Given the description of an element on the screen output the (x, y) to click on. 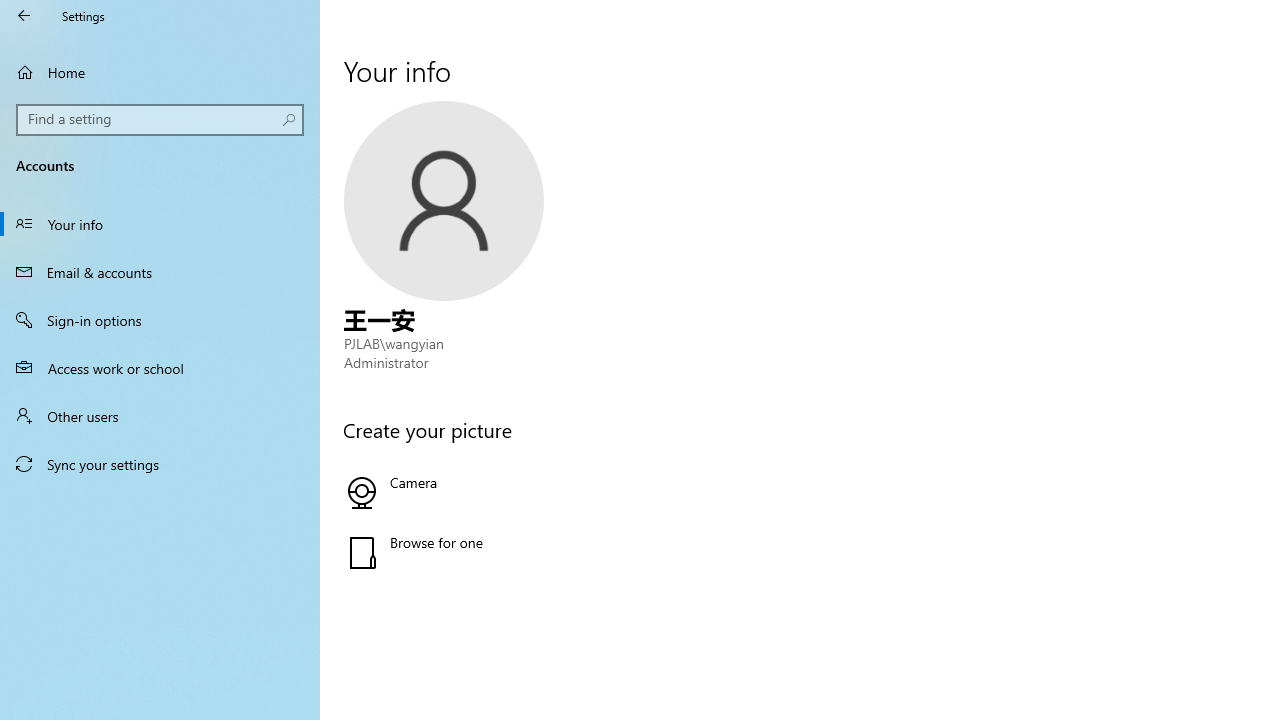
Search box, Find a setting (160, 119)
Browse for one (563, 552)
Home (160, 71)
Your info (160, 223)
Sync your settings (160, 463)
Sign-in options (160, 319)
Other users (160, 415)
Access work or school (160, 367)
Email & accounts (160, 271)
Camera (563, 492)
